Given the description of an element on the screen output the (x, y) to click on. 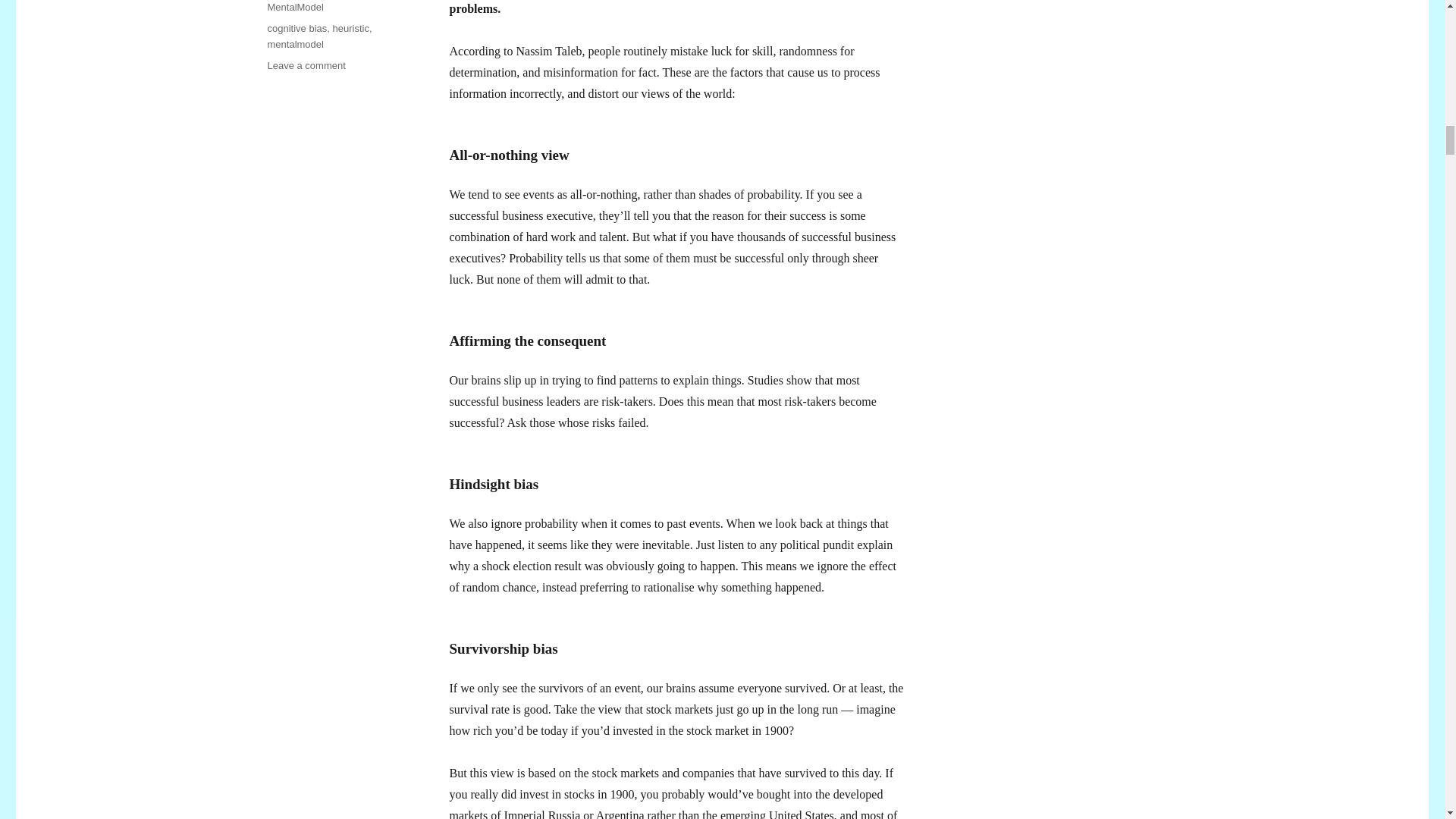
cognitive bias (296, 28)
mentalmodel (294, 43)
heuristic (351, 28)
MentalModel (294, 7)
